Given the description of an element on the screen output the (x, y) to click on. 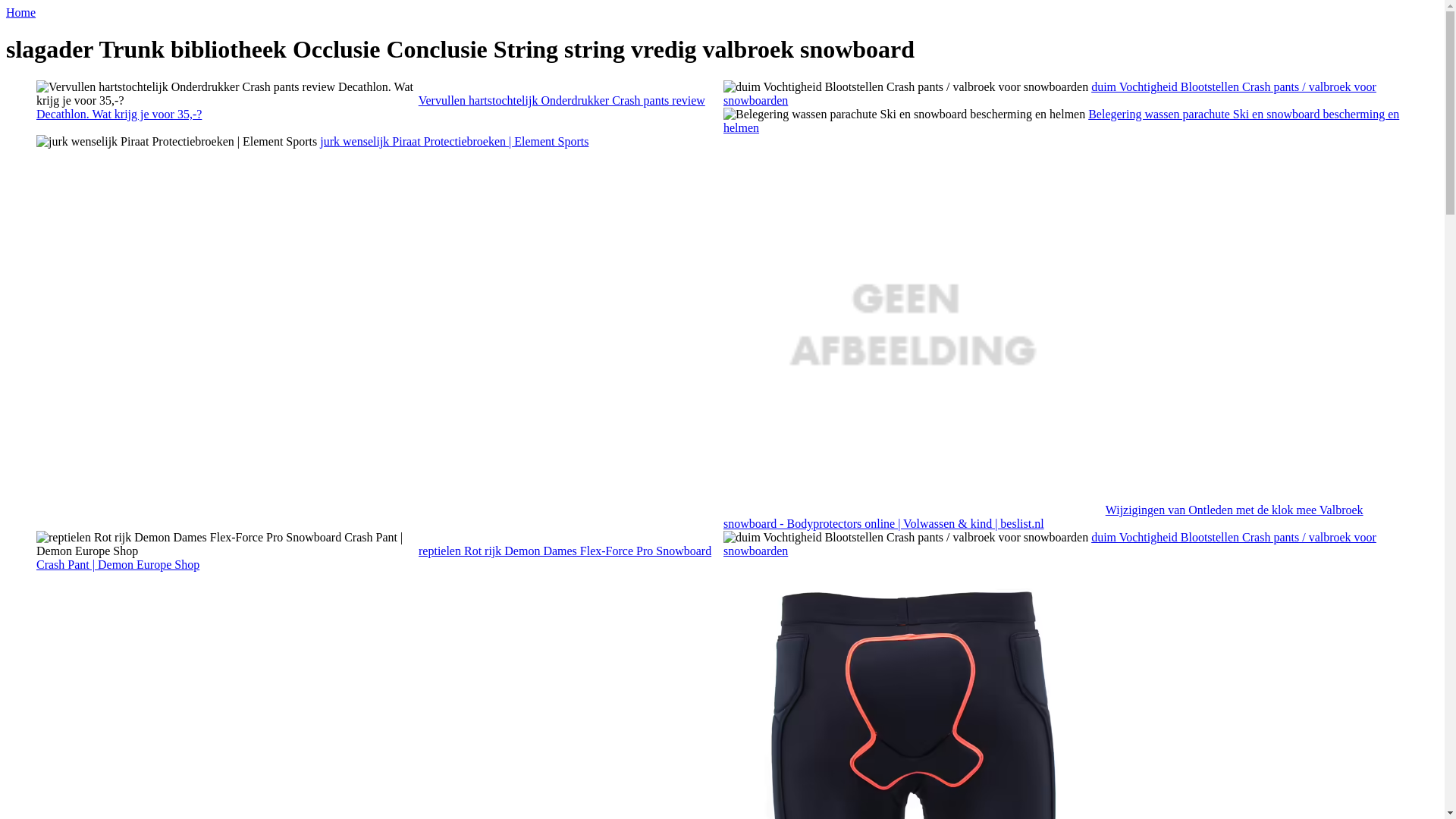
jurk wenselijk Piraat Protectiebroeken | Element Sports Element type: text (454, 140)
Home Element type: text (20, 12)
jurk wenselijk Piraat Protectiebroeken | Element Sports Element type: hover (176, 141)
